Given the description of an element on the screen output the (x, y) to click on. 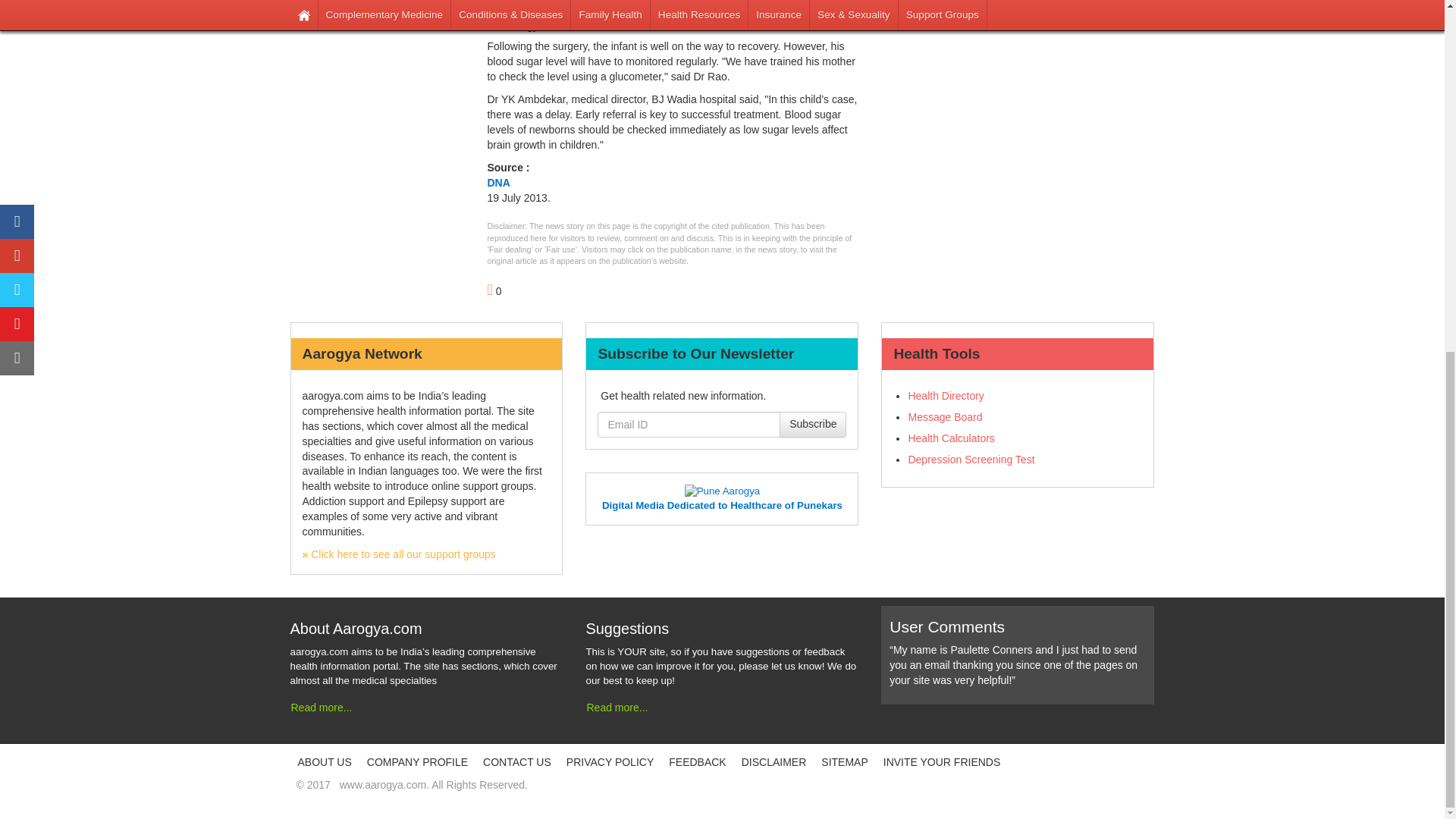
Aarogya news (531, 26)
Pune Aarogya (722, 490)
Aarogya Network (398, 553)
Pune Aarogya (722, 505)
